Given the description of an element on the screen output the (x, y) to click on. 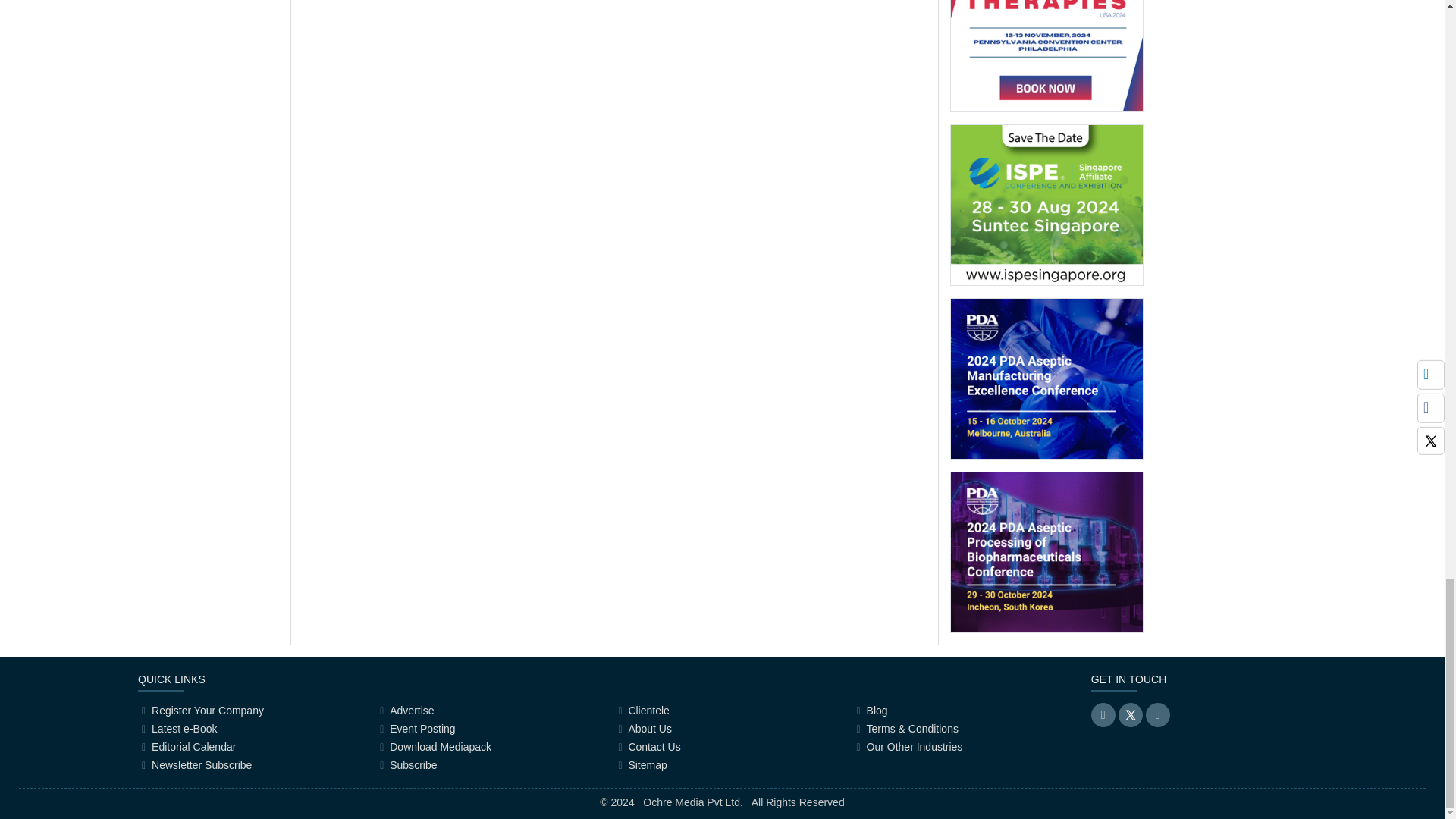
Advanced Therapies USA 2024 (1045, 36)
